Given the description of an element on the screen output the (x, y) to click on. 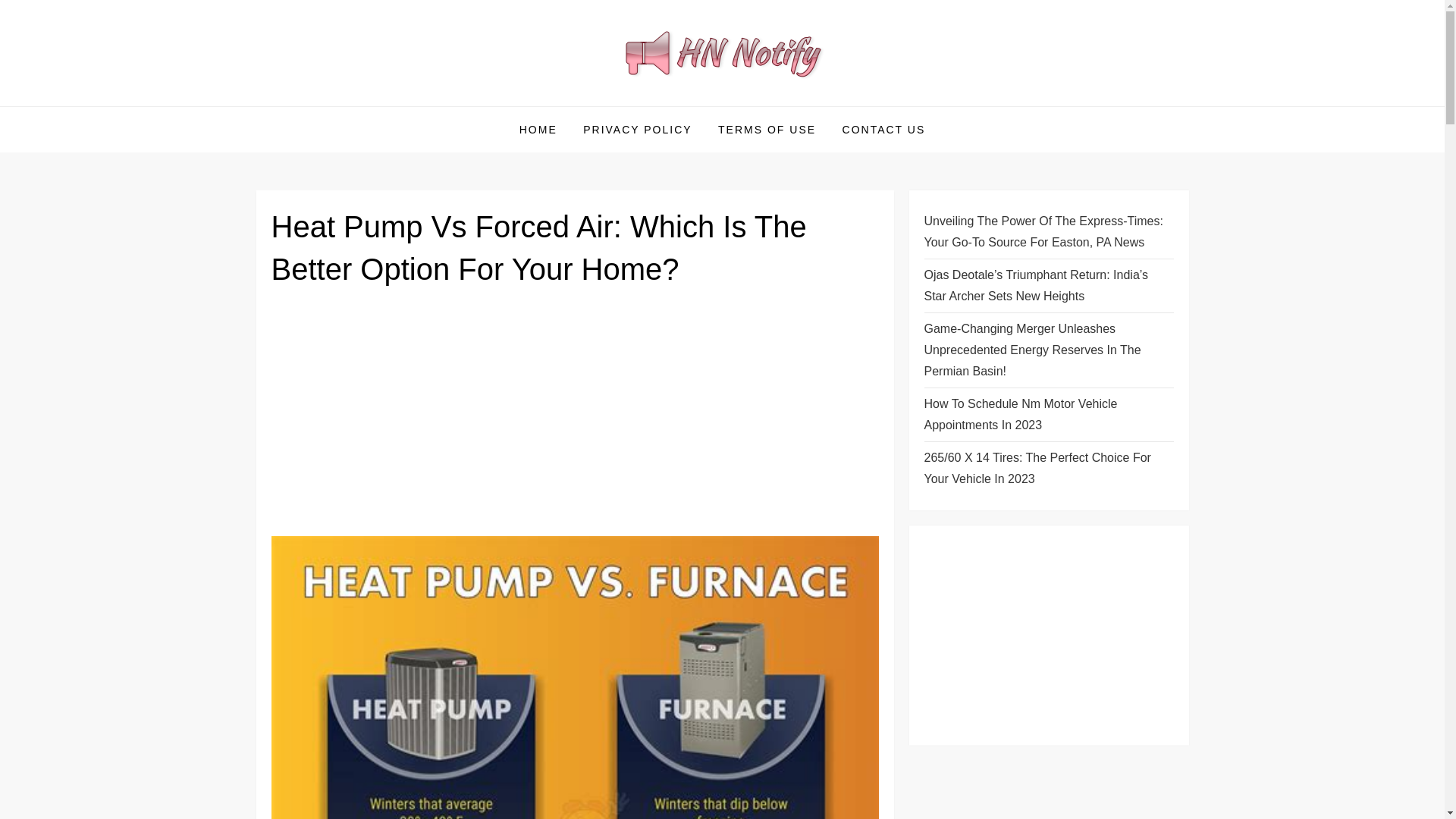
PRIVACY POLICY (637, 129)
HOME (538, 129)
Advertisement (574, 418)
TERMS OF USE (766, 129)
CONTACT US (884, 129)
How To Schedule Nm Motor Vehicle Appointments In 2023 (1048, 414)
Advertisement (1048, 635)
HN Notify (320, 105)
